Given the description of an element on the screen output the (x, y) to click on. 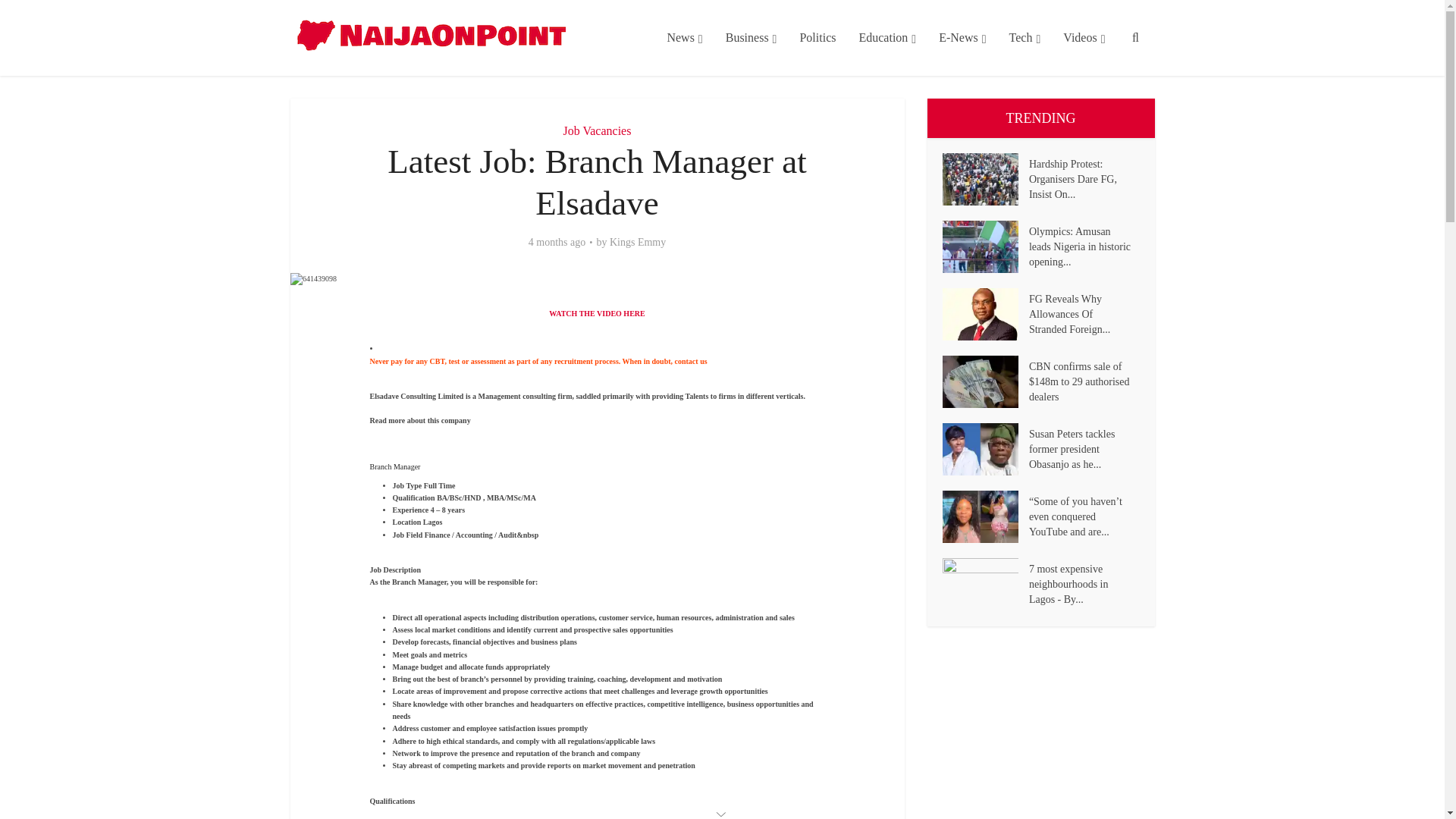
Business (751, 38)
Olympics: Amusan leads Nigeria in historic opening ceremony (1084, 245)
Olympics: Amusan leads Nigeria in historic opening ceremony (979, 246)
Olympics: Amusan leads Nigeria in historic opening ceremony (984, 246)
Ad.Plus Advertising (722, 813)
E-News (962, 38)
Latest Job: Branch Manager at Elsadave (312, 278)
Education (887, 38)
